Given the description of an element on the screen output the (x, y) to click on. 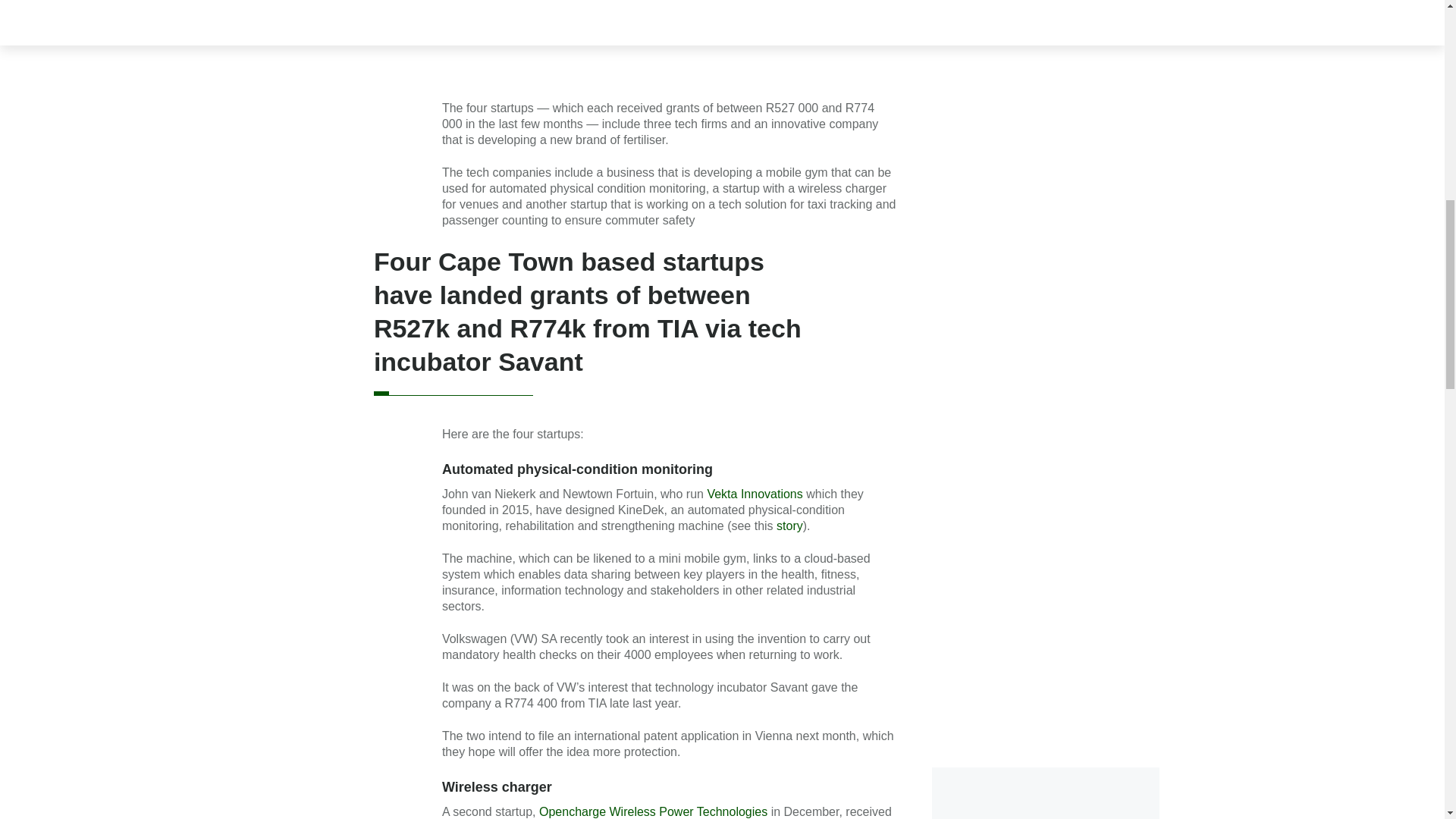
Opencharge Wireless Power Technologies (652, 811)
story (789, 525)
Vekta Innovations (754, 493)
